Given the description of an element on the screen output the (x, y) to click on. 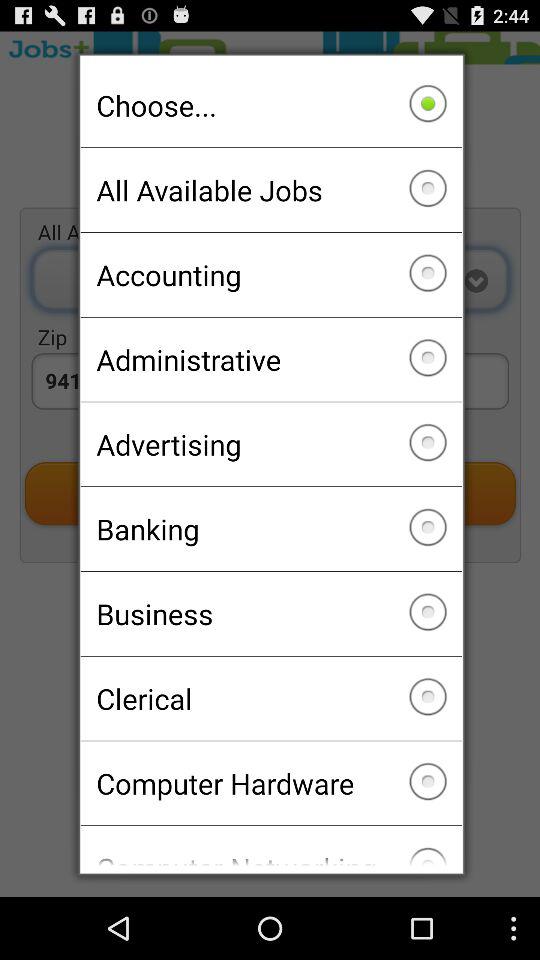
turn on checkbox above the accounting (270, 190)
